Given the description of an element on the screen output the (x, y) to click on. 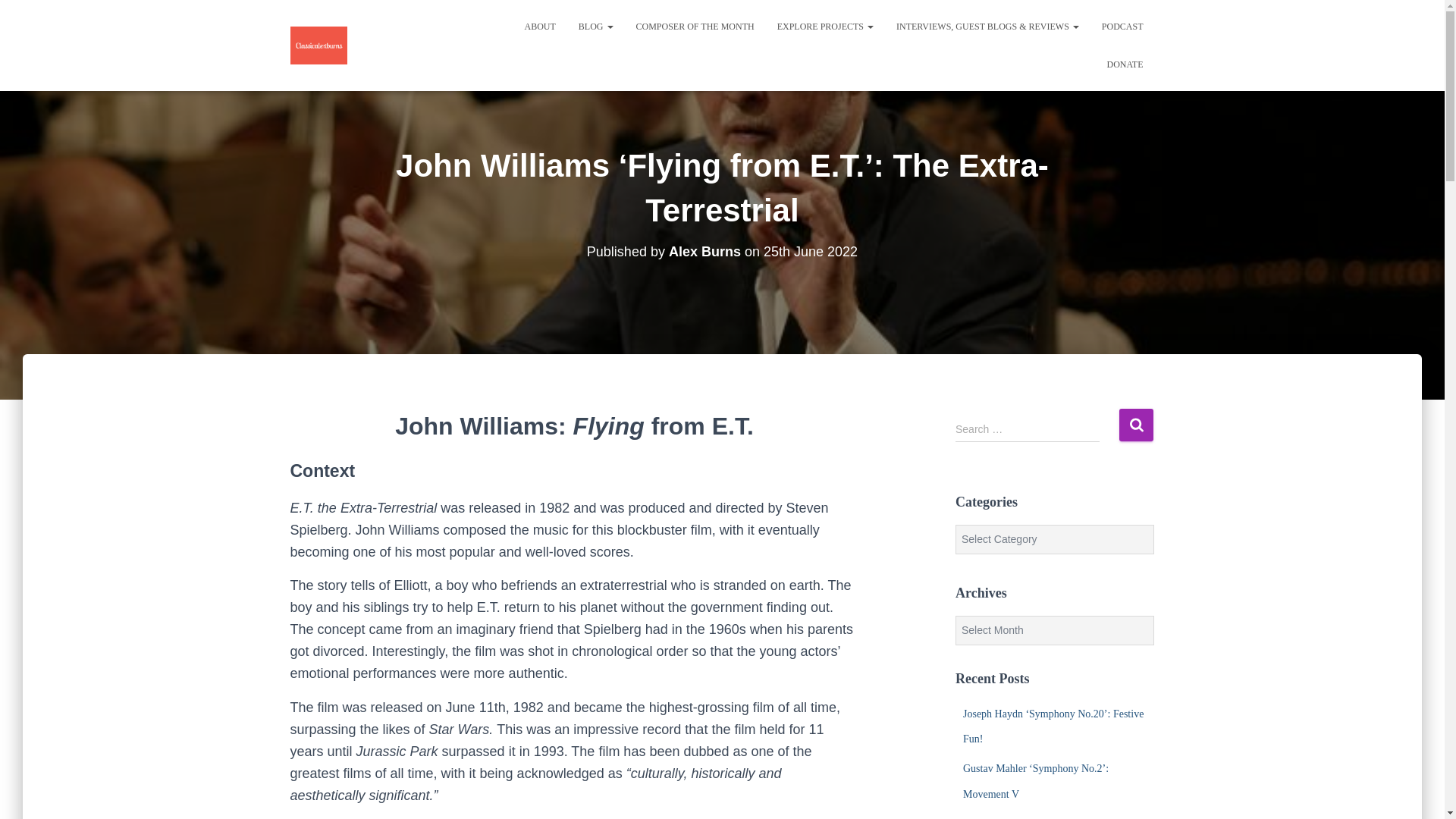
ABOUT (539, 26)
COMPOSER OF THE MONTH (694, 26)
Blog (595, 26)
EXPLORE PROJECTS (825, 26)
About (539, 26)
Classicalexburns (318, 45)
Search (1136, 424)
Search (1136, 424)
BLOG (595, 26)
